Given the description of an element on the screen output the (x, y) to click on. 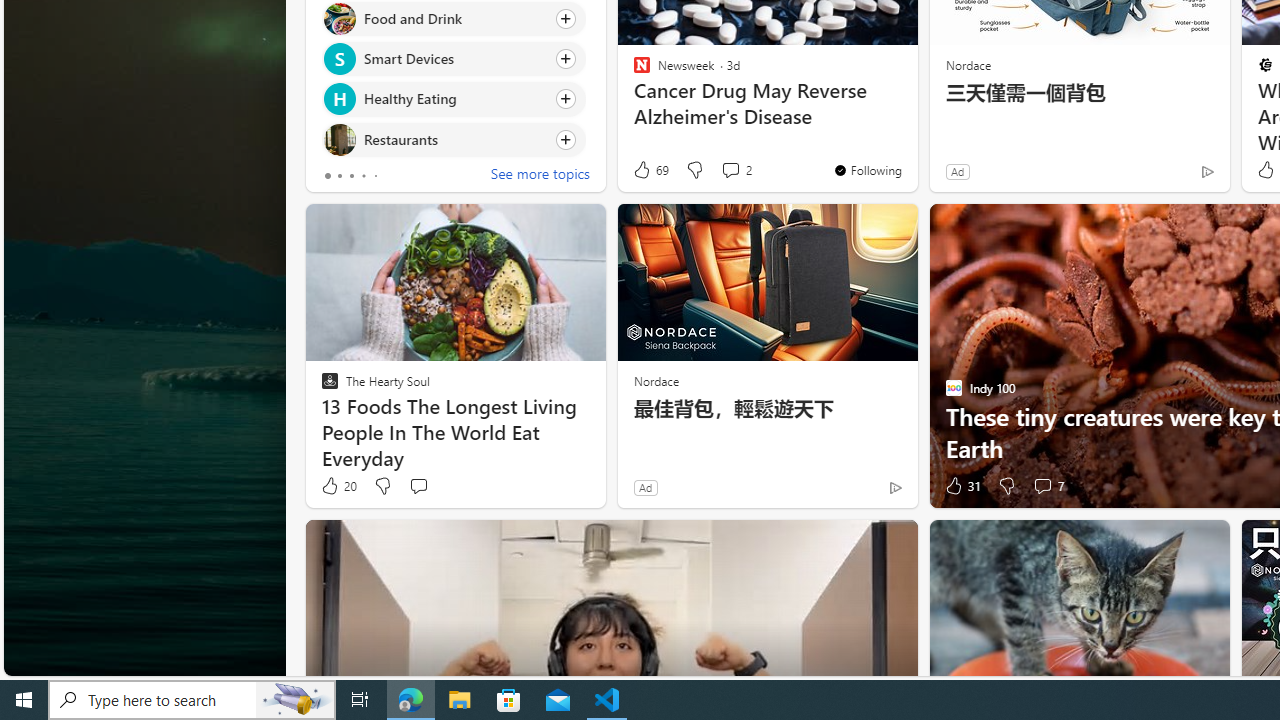
View comments 2 Comment (730, 169)
tab-1 (338, 175)
View comments 2 Comment (735, 170)
Restaurants (338, 139)
tab-0 (327, 175)
Click to follow topic Restaurants (453, 138)
Click to follow topic Healthy Eating (453, 99)
You're following Newsweek (866, 169)
69 Like (650, 170)
Food and Drink (338, 18)
tab-2 (351, 175)
